Given the description of an element on the screen output the (x, y) to click on. 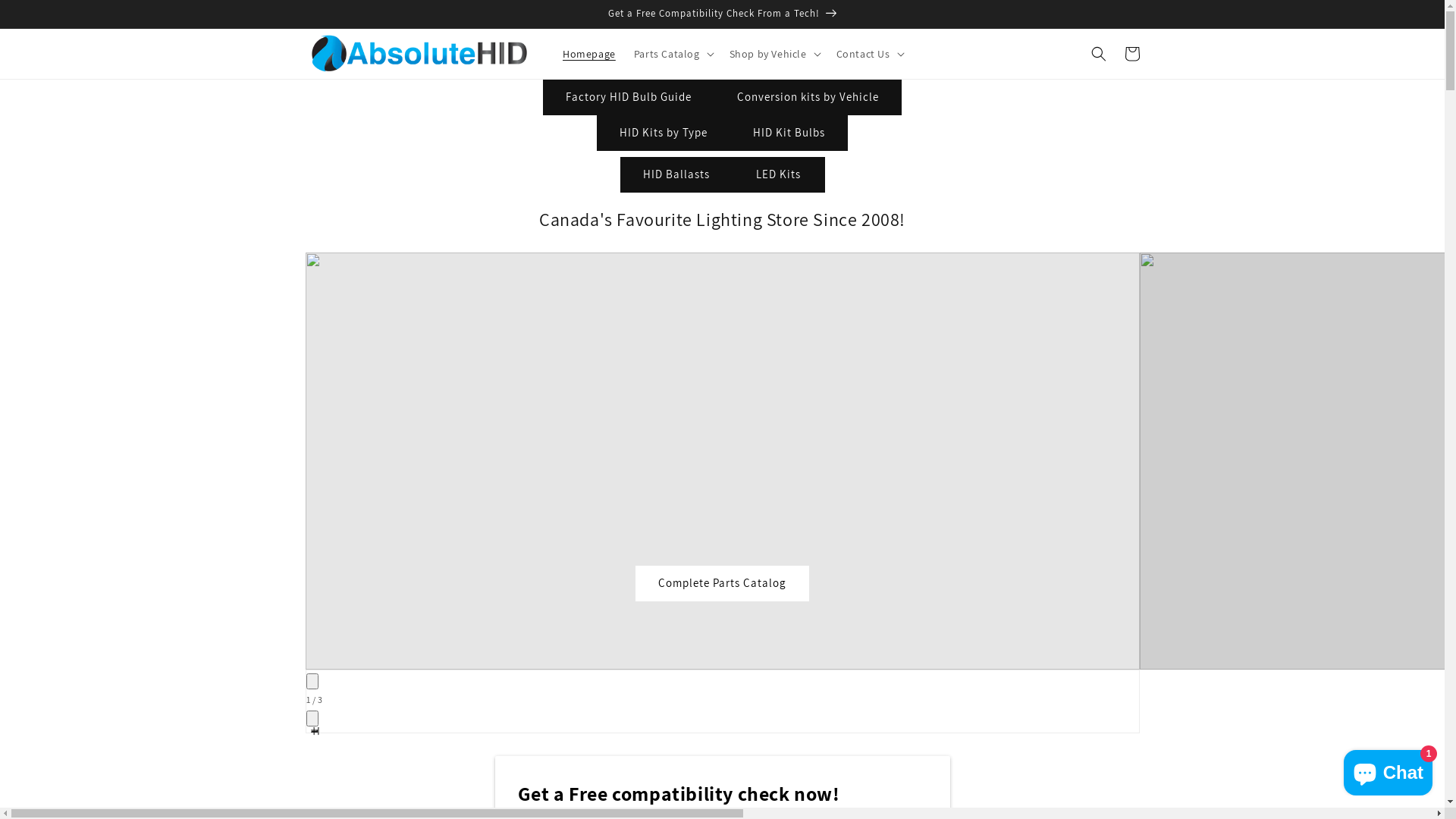
HID Kits by Type Element type: text (663, 132)
Factory HID Bulb Guide Element type: text (628, 97)
Homepage Element type: text (588, 53)
HID Ballasts Element type: text (676, 174)
Complete Parts Catalog Element type: text (722, 583)
HID Kit Bulbs Element type: text (788, 132)
Conversion kits by Vehicle Element type: text (807, 97)
Get a Free Compatibility Check From a Tech! Element type: text (722, 14)
Shopify online store chat Element type: hover (1388, 769)
Cart Element type: text (1131, 53)
LED Kits Element type: text (778, 174)
